Given the description of an element on the screen output the (x, y) to click on. 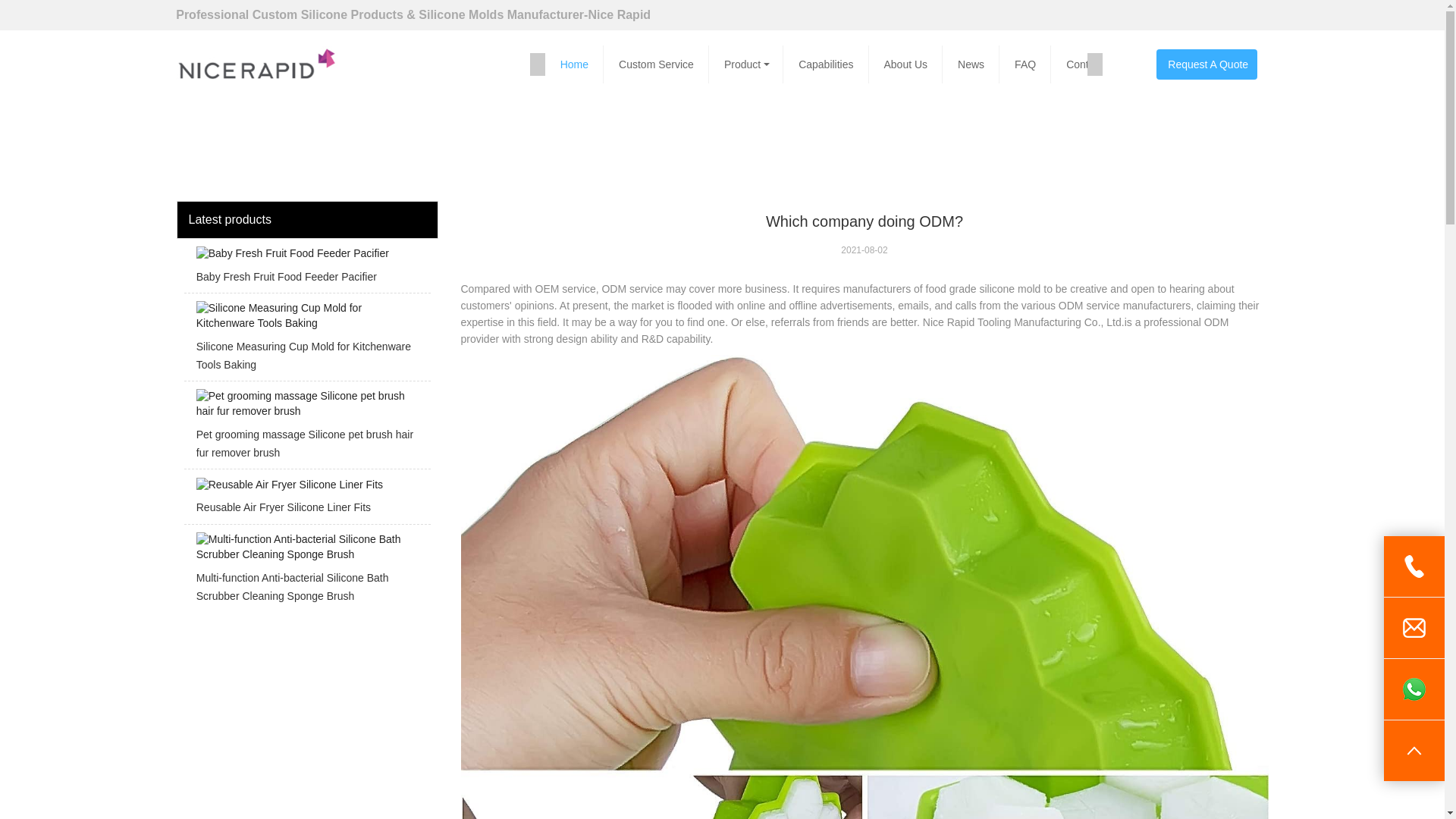
Silicone Measuring Cup Mold for Kitchenware Tools Baking (306, 340)
Capabilities (828, 64)
Contact Us (1093, 64)
Reusable Air Fryer Silicone Liner Fits (306, 500)
About Us (907, 64)
Product (748, 64)
Request A Quote (1205, 64)
Baby Fresh Fruit Food Feeder Pacifier (306, 269)
Custom Service (658, 64)
